Given the description of an element on the screen output the (x, y) to click on. 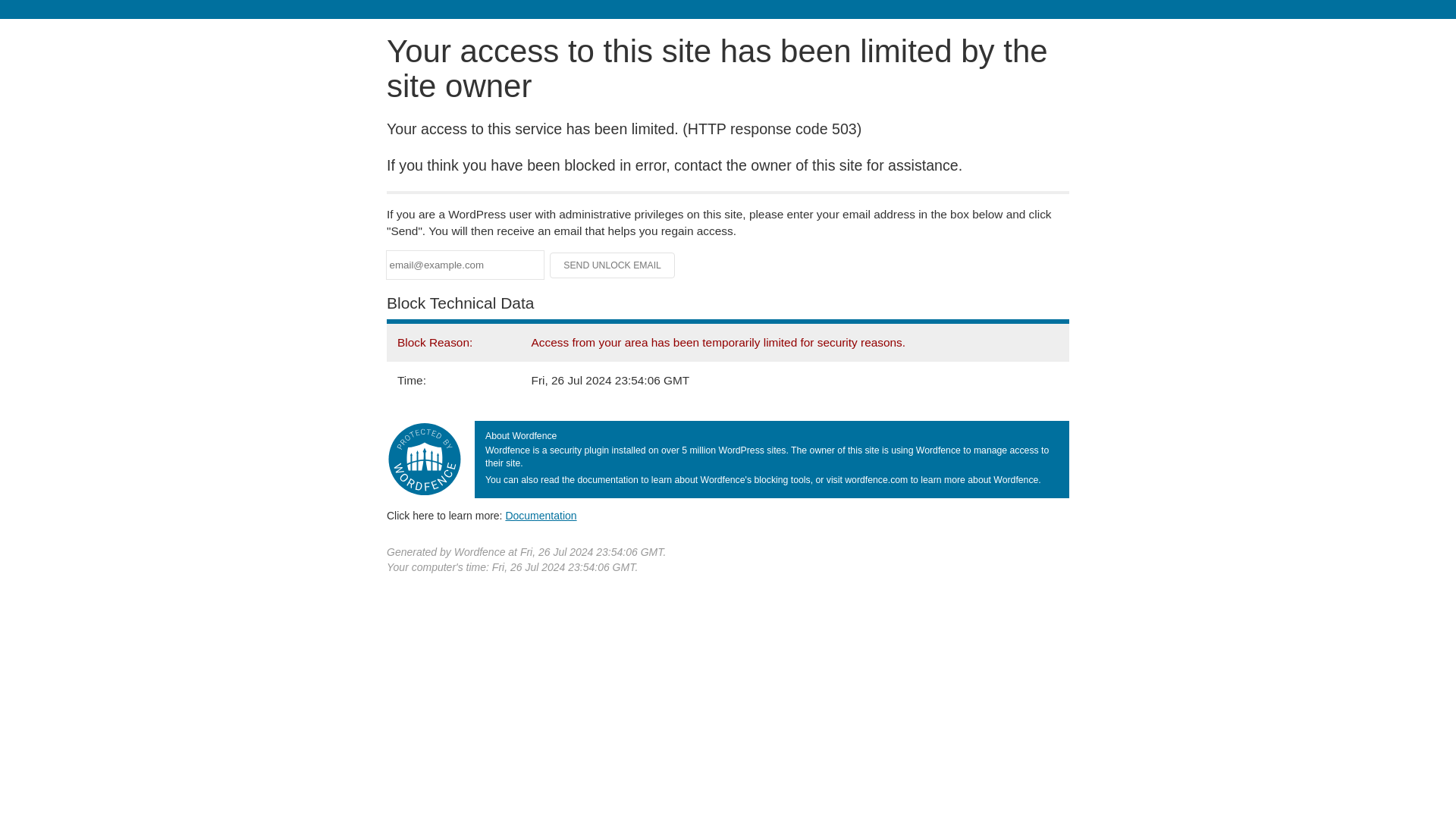
Send Unlock Email (612, 265)
Send Unlock Email (612, 265)
Documentation (540, 515)
